Given the description of an element on the screen output the (x, y) to click on. 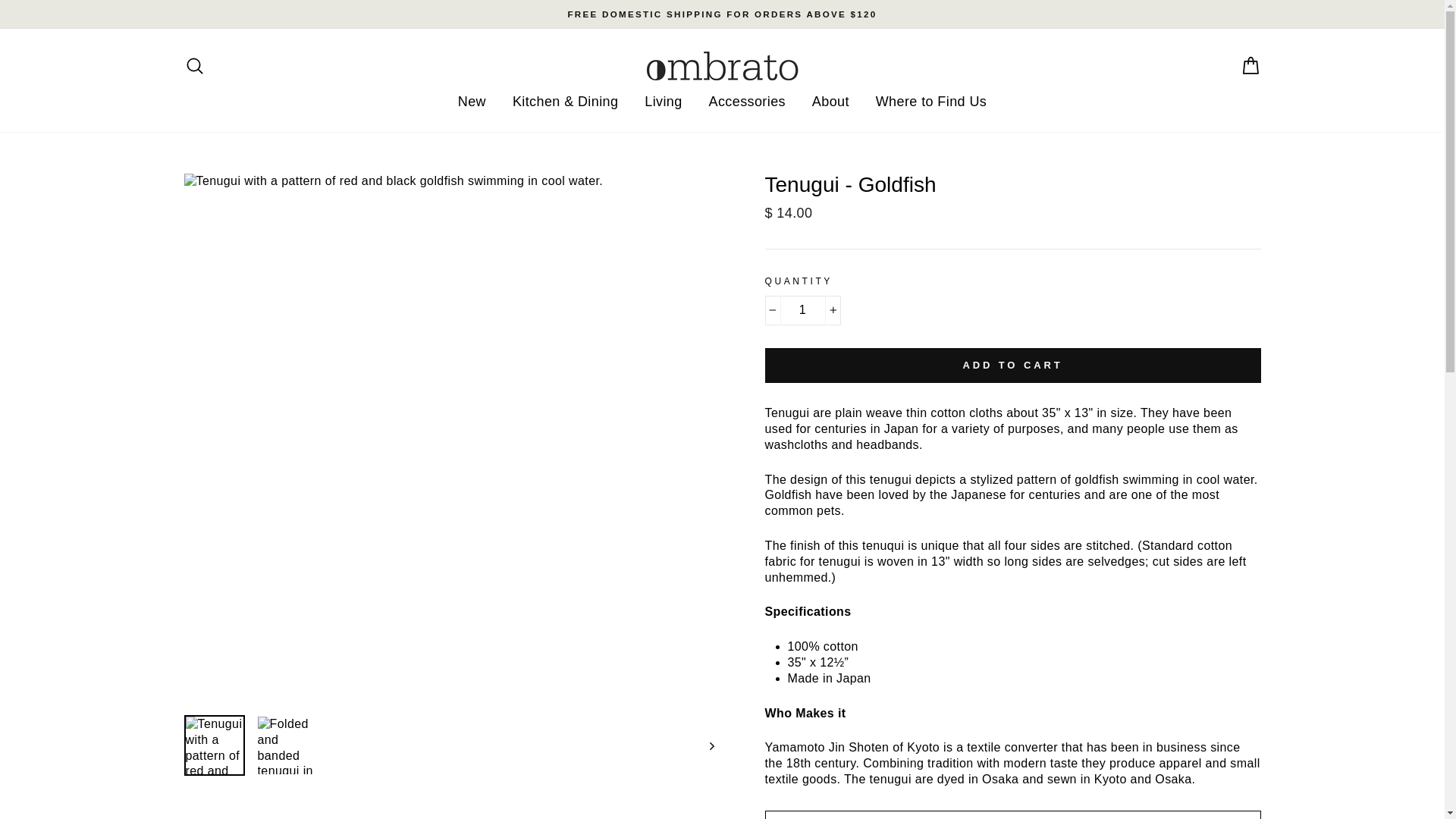
Cart (1249, 65)
Living (663, 102)
New (471, 102)
1 (802, 310)
Search (194, 65)
